Given the description of an element on the screen output the (x, y) to click on. 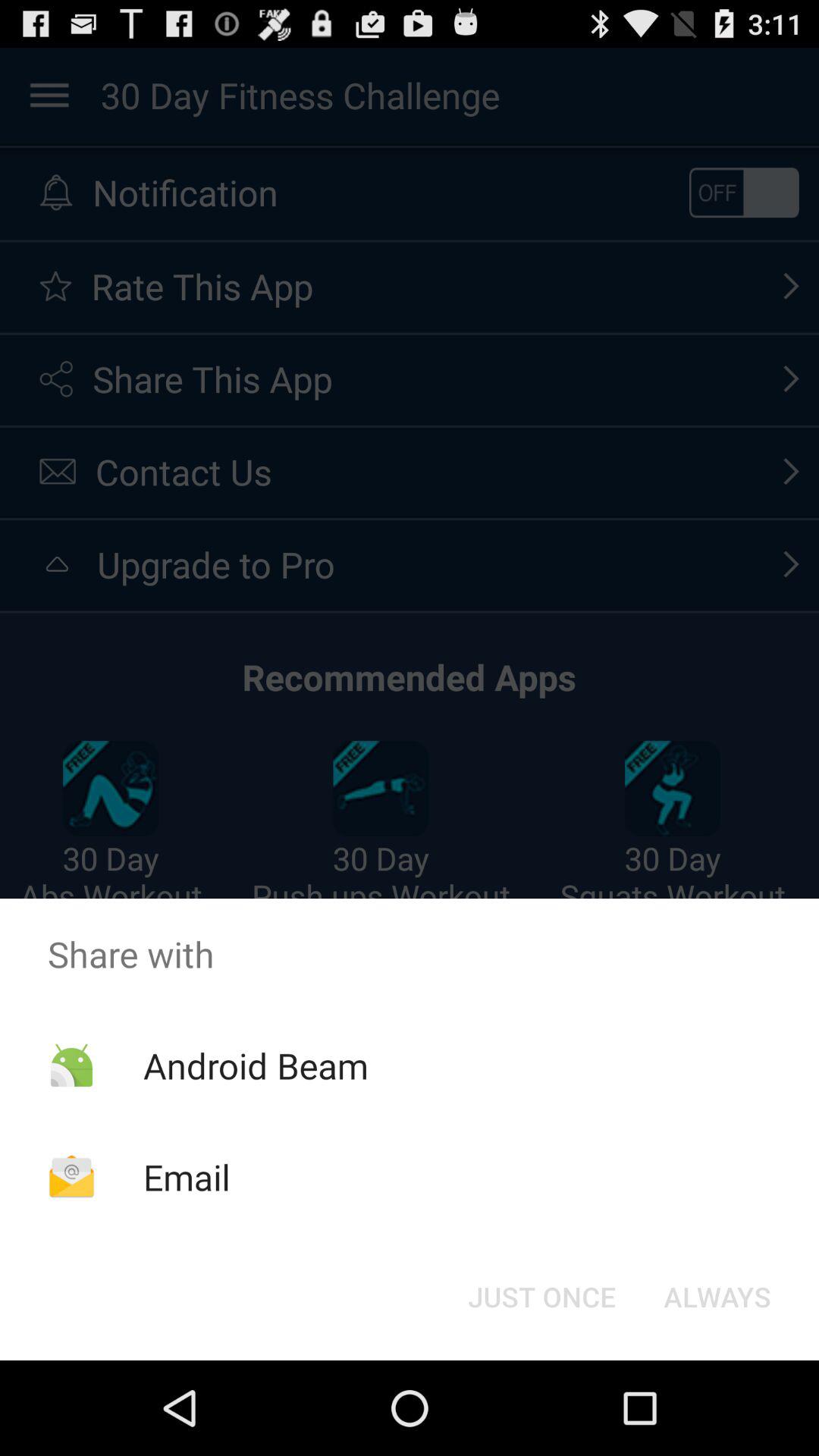
turn on app below the share with icon (255, 1065)
